Given the description of an element on the screen output the (x, y) to click on. 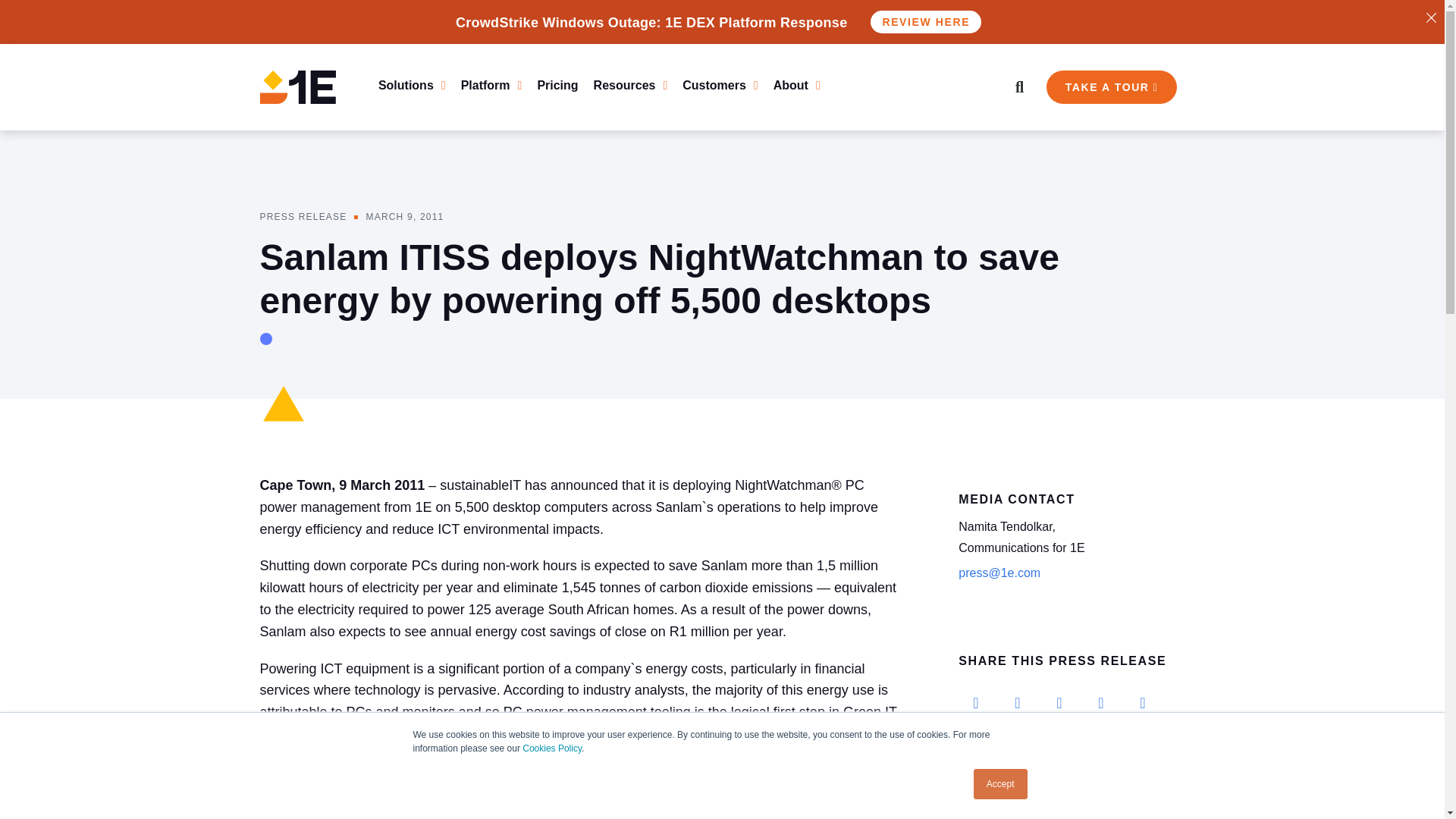
REVIEW HERE (930, 21)
Cookies Policy (551, 737)
Accept (1000, 772)
1E Logo (296, 87)
